Given the description of an element on the screen output the (x, y) to click on. 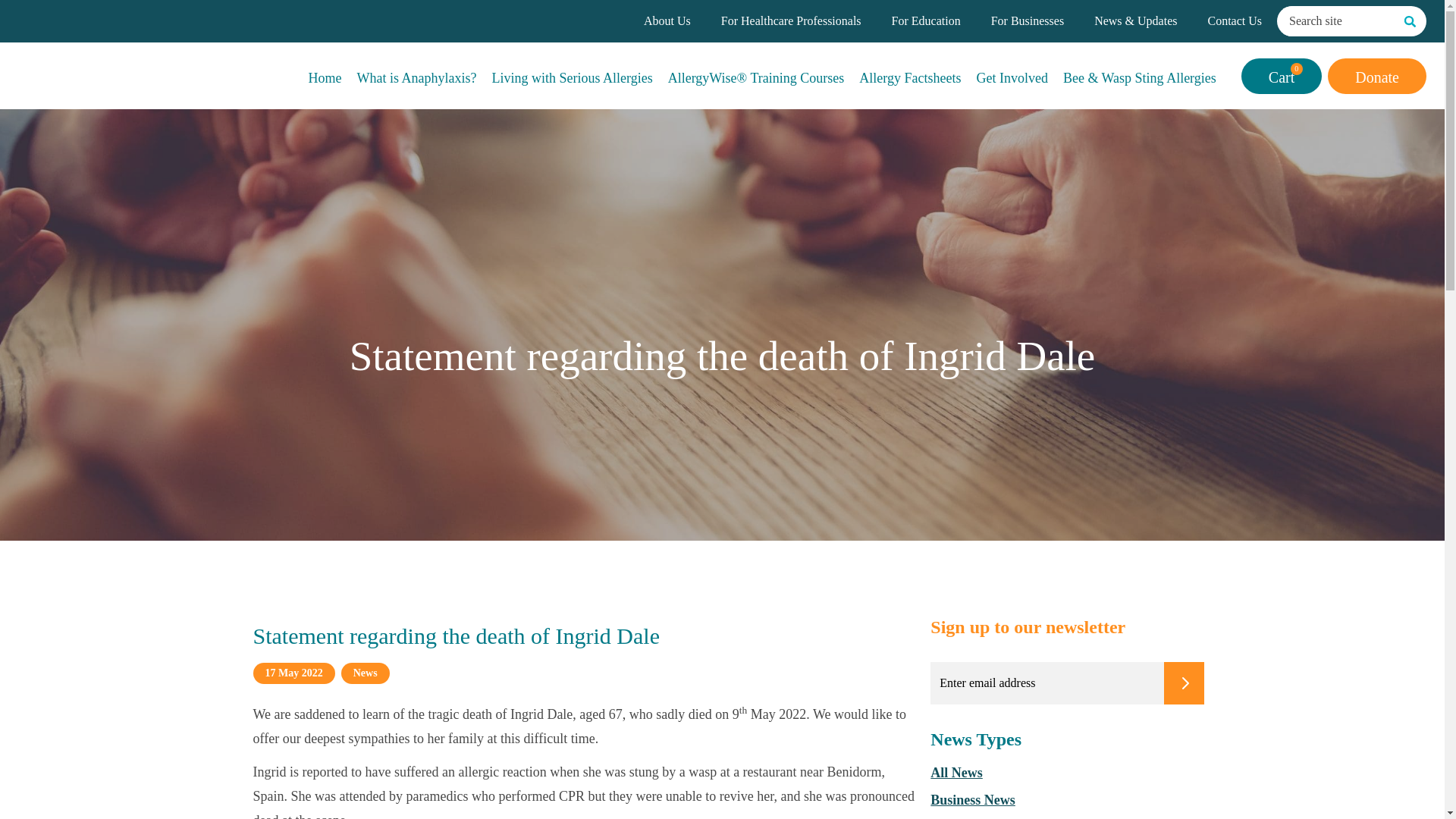
For Education (925, 21)
Contact Us (1234, 21)
For Healthcare Professionals (790, 21)
About Us (666, 21)
Home (325, 75)
Living with Serious Allergies (572, 75)
What is Anaphylaxis? (416, 75)
For Businesses (1027, 21)
